Given the description of an element on the screen output the (x, y) to click on. 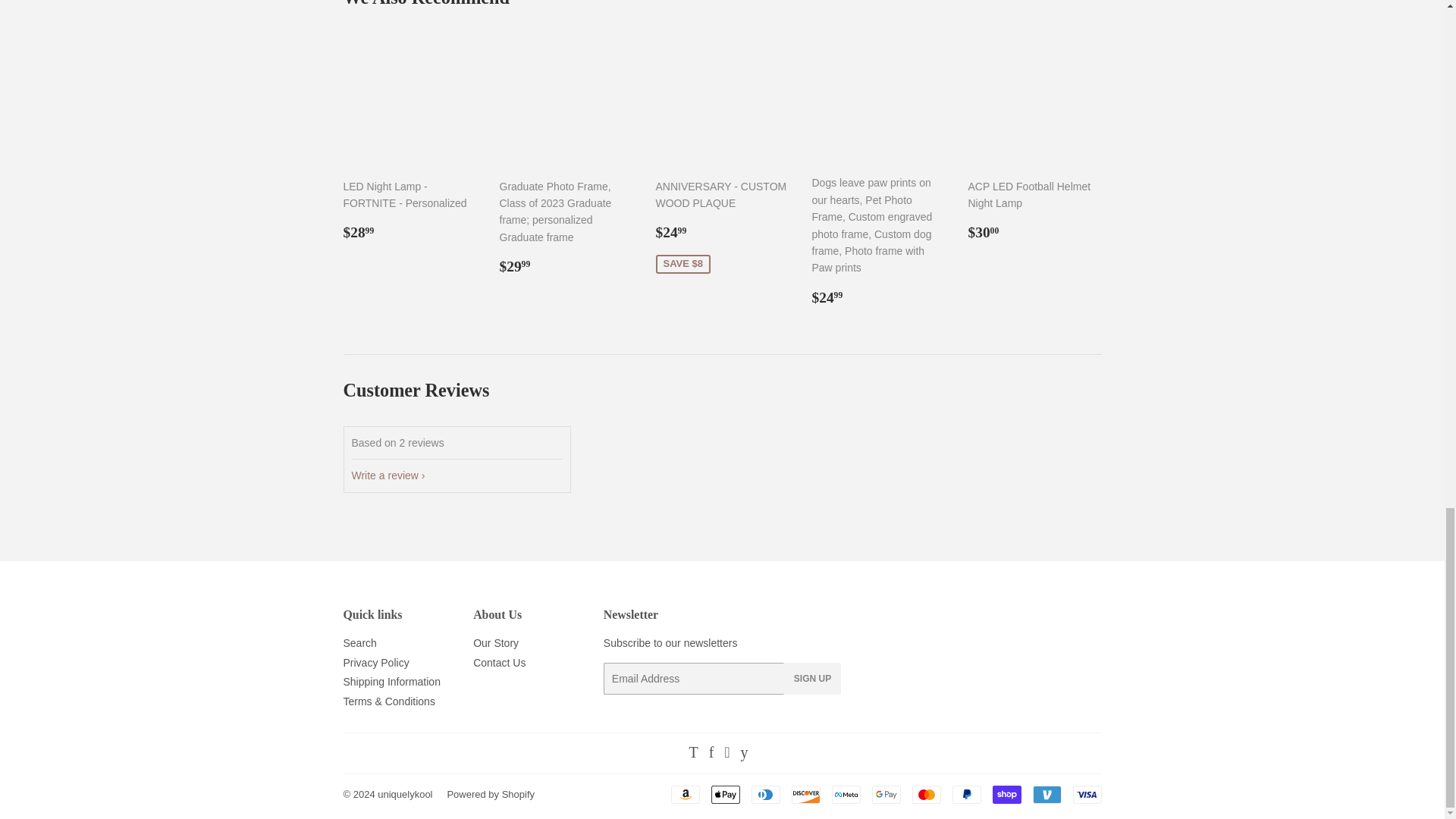
uniquelykool on Twitter (693, 753)
uniquelykool on Instagram (726, 753)
Discover (806, 794)
Meta Pay (845, 794)
Mastercard (925, 794)
uniquelykool on YouTube (743, 753)
PayPal (966, 794)
Apple Pay (725, 794)
Visa (1085, 794)
Google Pay (886, 794)
Shop Pay (1005, 794)
Venmo (1046, 794)
Diners Club (764, 794)
uniquelykool on Facebook (711, 753)
Amazon (683, 794)
